Given the description of an element on the screen output the (x, y) to click on. 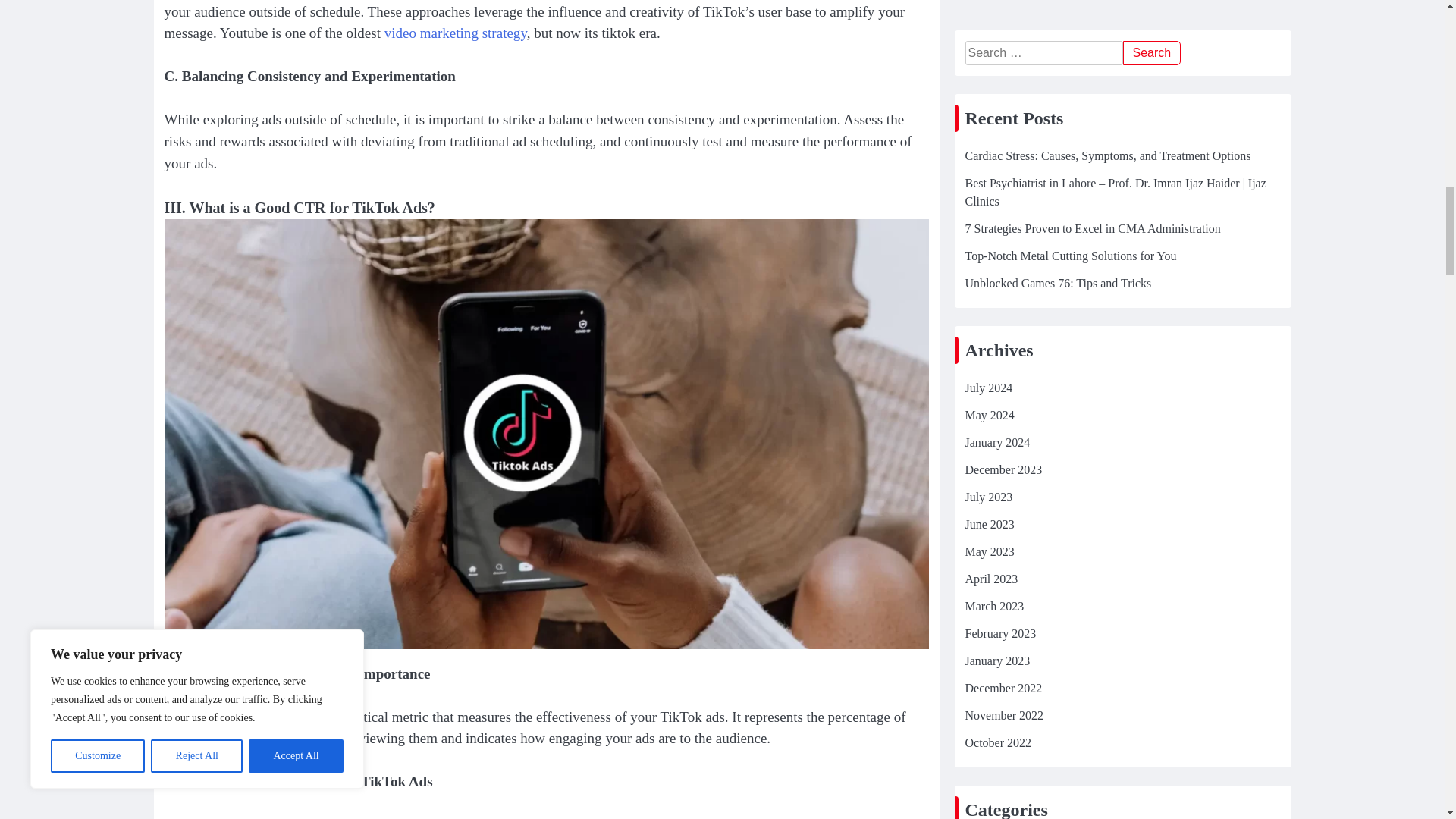
video marketing strategy (455, 32)
